Given the description of an element on the screen output the (x, y) to click on. 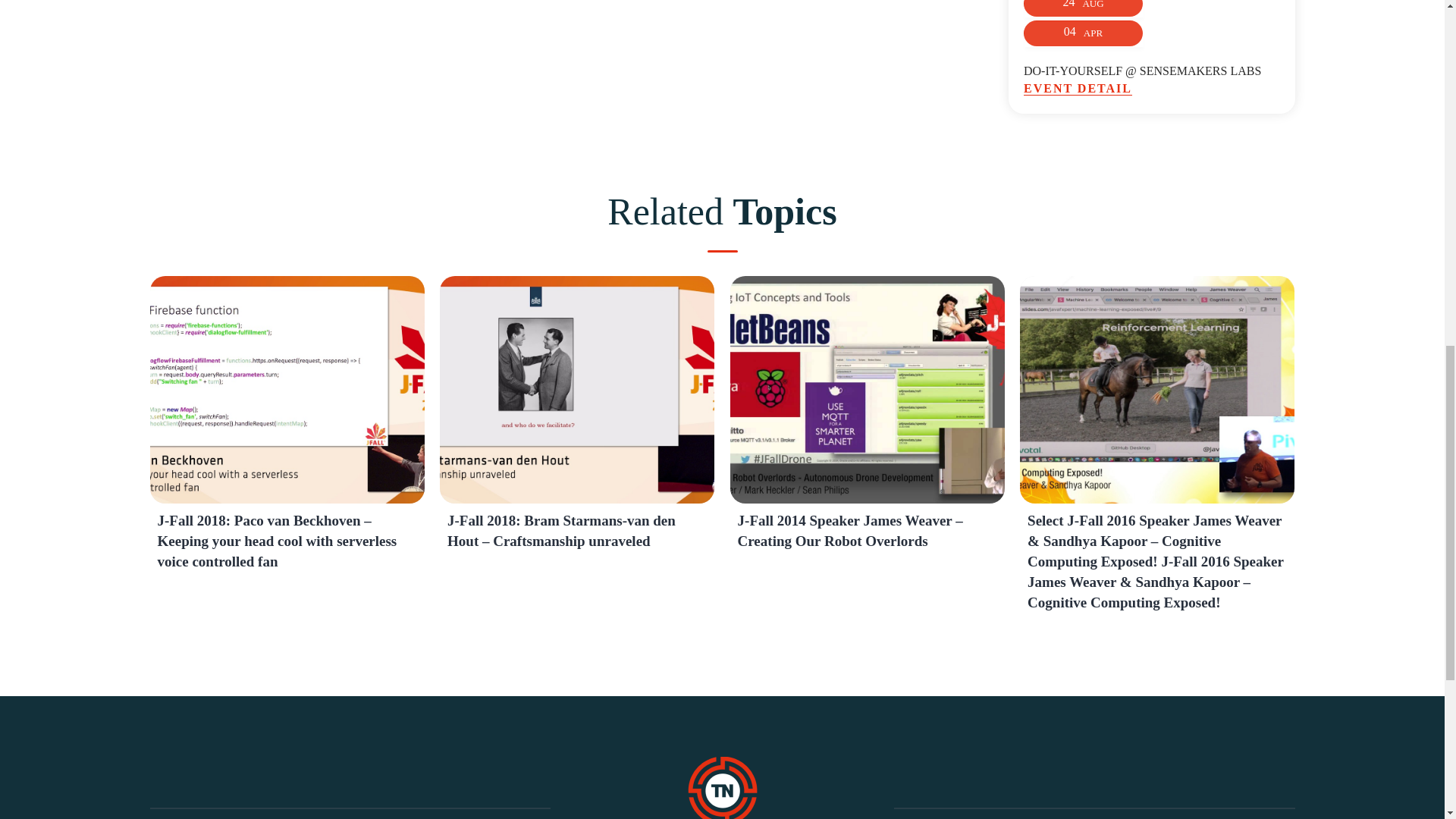
EVENT DETAIL (1151, 88)
